Given the description of an element on the screen output the (x, y) to click on. 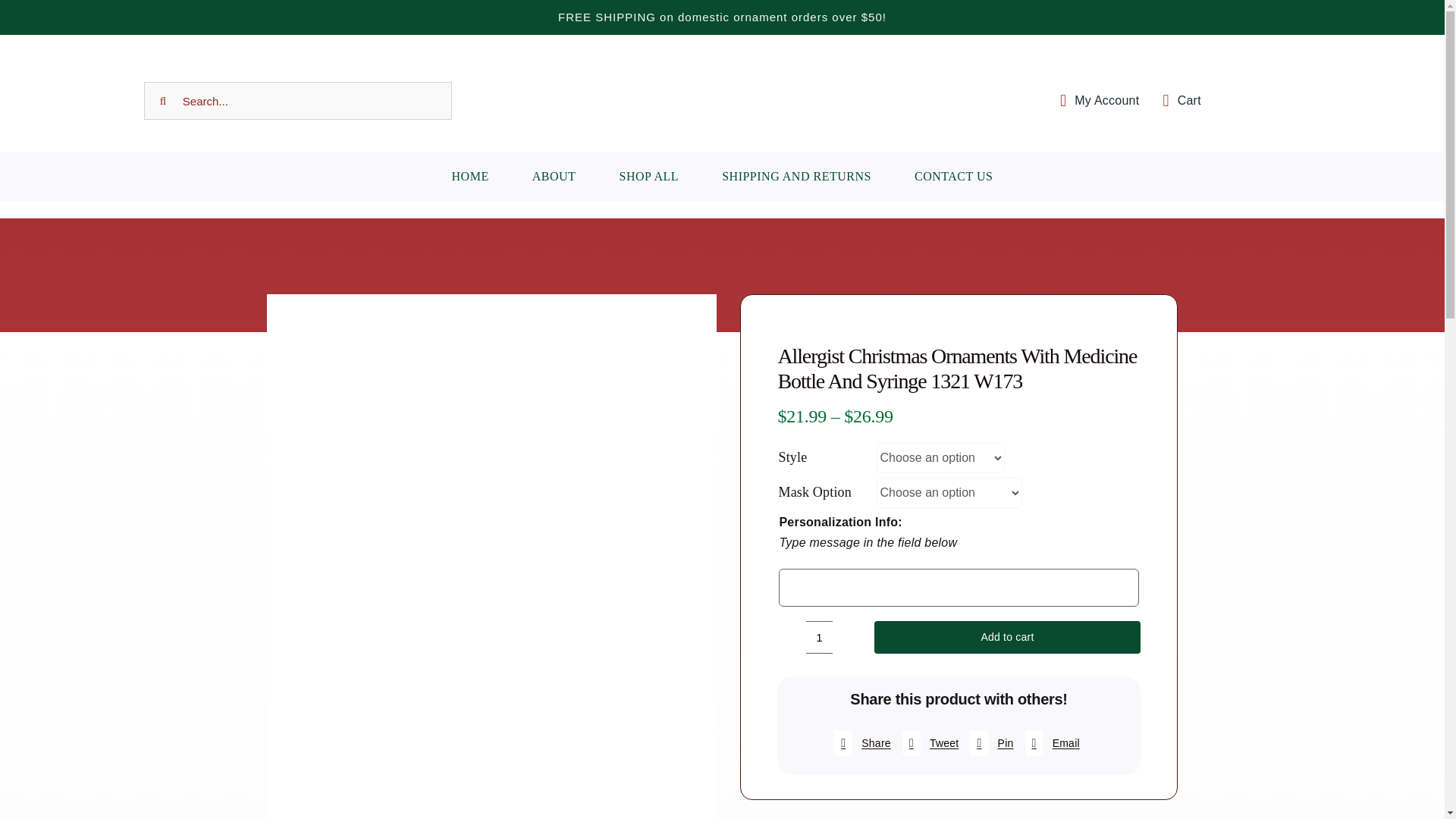
Add to cart (1007, 636)
SHOP ALL (649, 176)
Tweet (928, 743)
My Account (1094, 100)
Facebook (860, 743)
Share (860, 743)
Pin (989, 743)
X (928, 743)
ABOUT (554, 176)
Email (1051, 743)
